Given the description of an element on the screen output the (x, y) to click on. 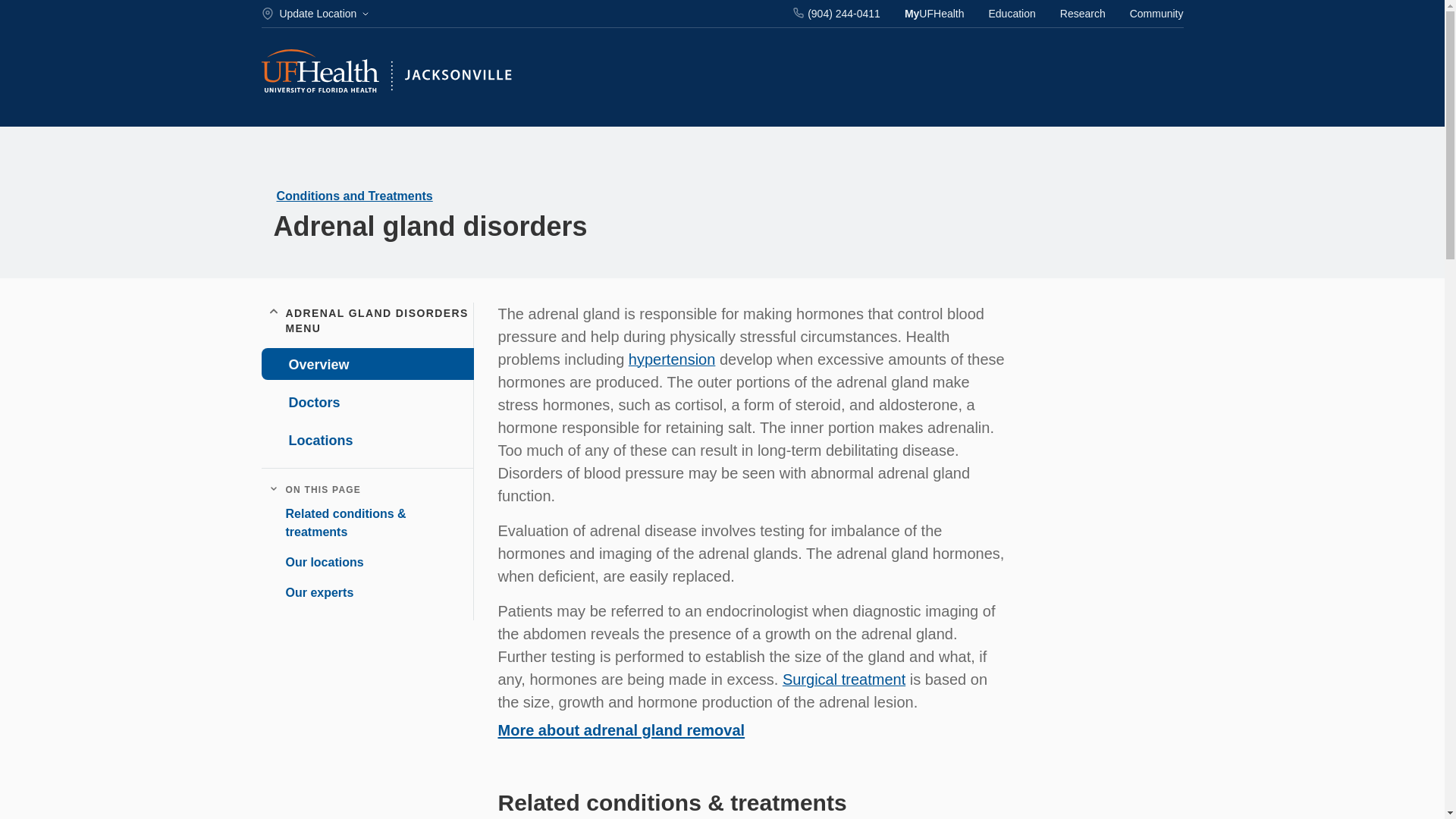
Education (1011, 13)
More about adrenal gland removal (620, 729)
Surgical treatment (844, 678)
Our locations (317, 562)
Conditions and Treatments (354, 195)
Research (1082, 13)
MyUFHealth (933, 13)
Collapse Adrenal gland disorders Menu (272, 312)
Doctors (365, 401)
Community (1156, 13)
